Given the description of an element on the screen output the (x, y) to click on. 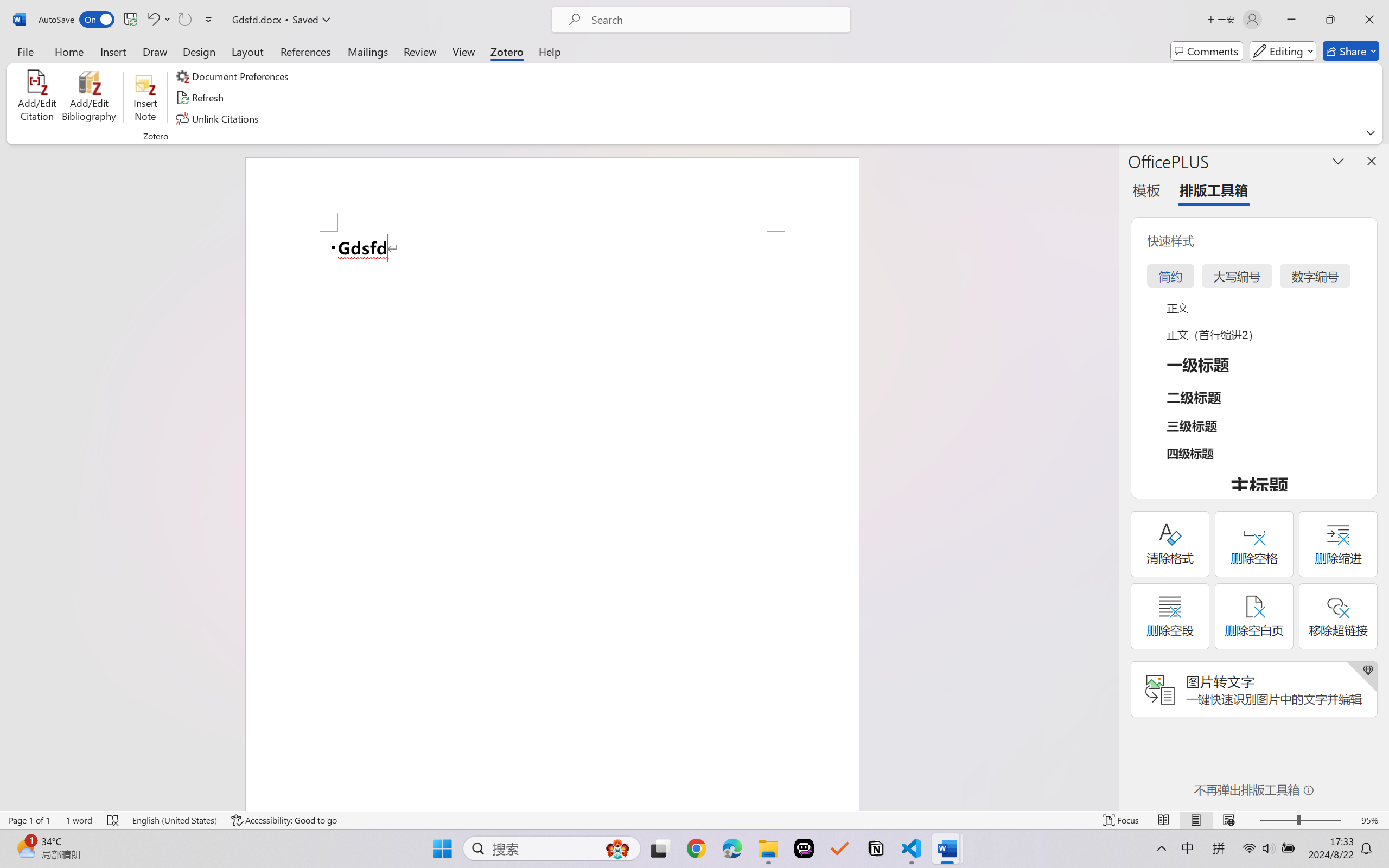
Insert Note (145, 97)
